Given the description of an element on the screen output the (x, y) to click on. 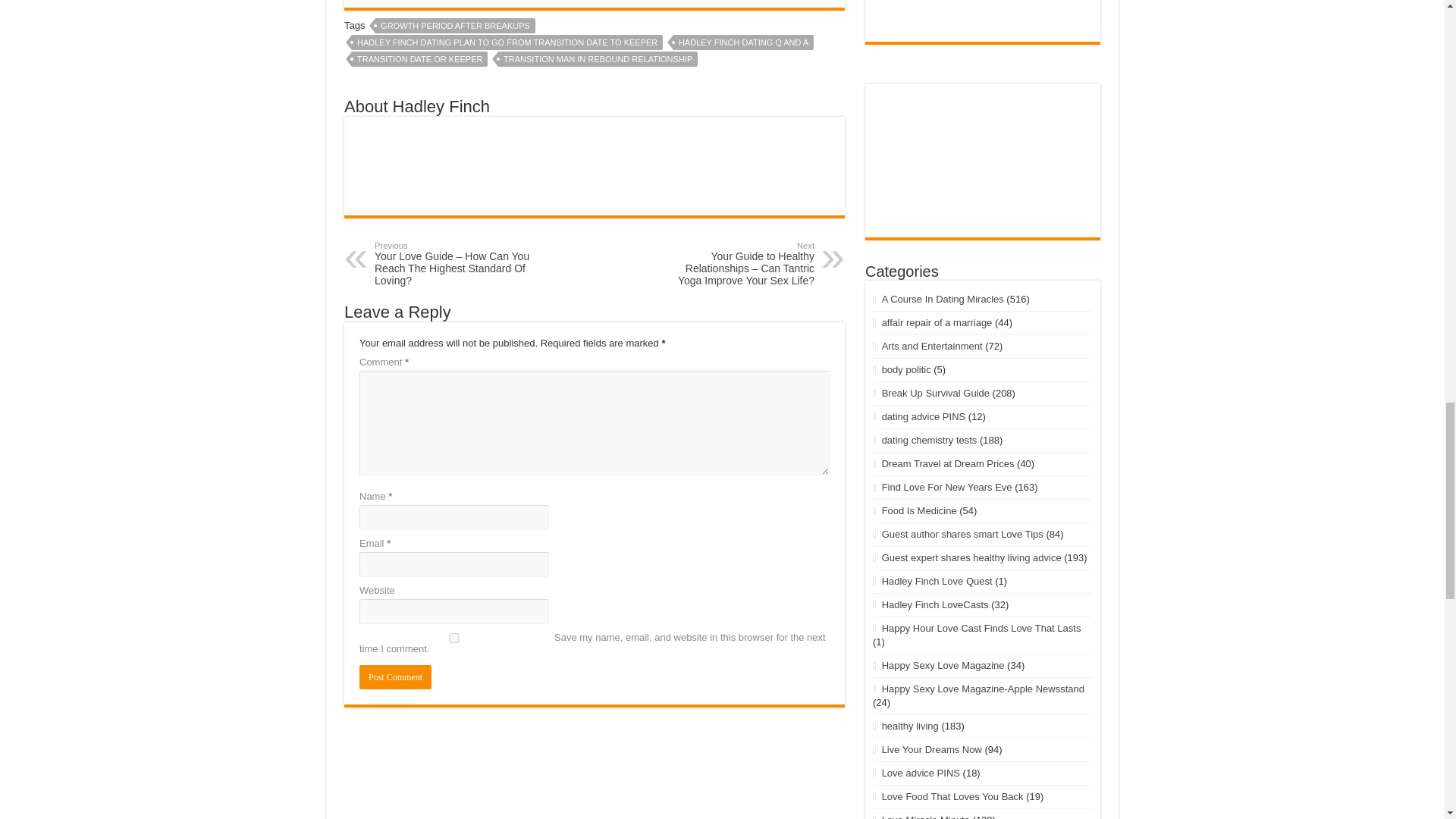
Post Comment (394, 677)
yes (453, 637)
